Given the description of an element on the screen output the (x, y) to click on. 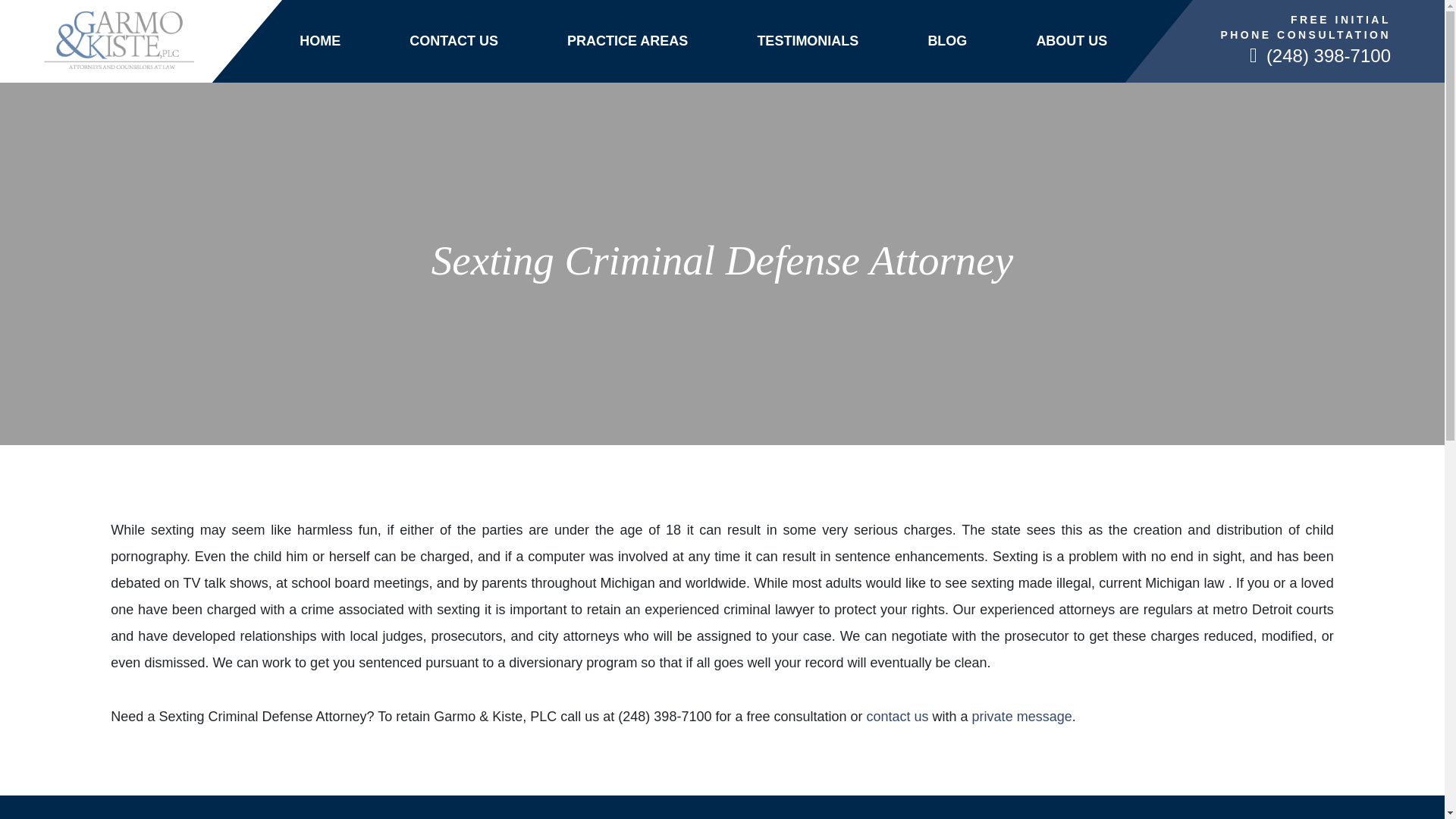
TESTIMONIALS (808, 40)
CONTACT US (453, 40)
contact us (897, 716)
HOME (319, 40)
ABOUT US (1070, 40)
BLOG (946, 40)
private message (1021, 716)
PRACTICE AREAS (627, 40)
